Given the description of an element on the screen output the (x, y) to click on. 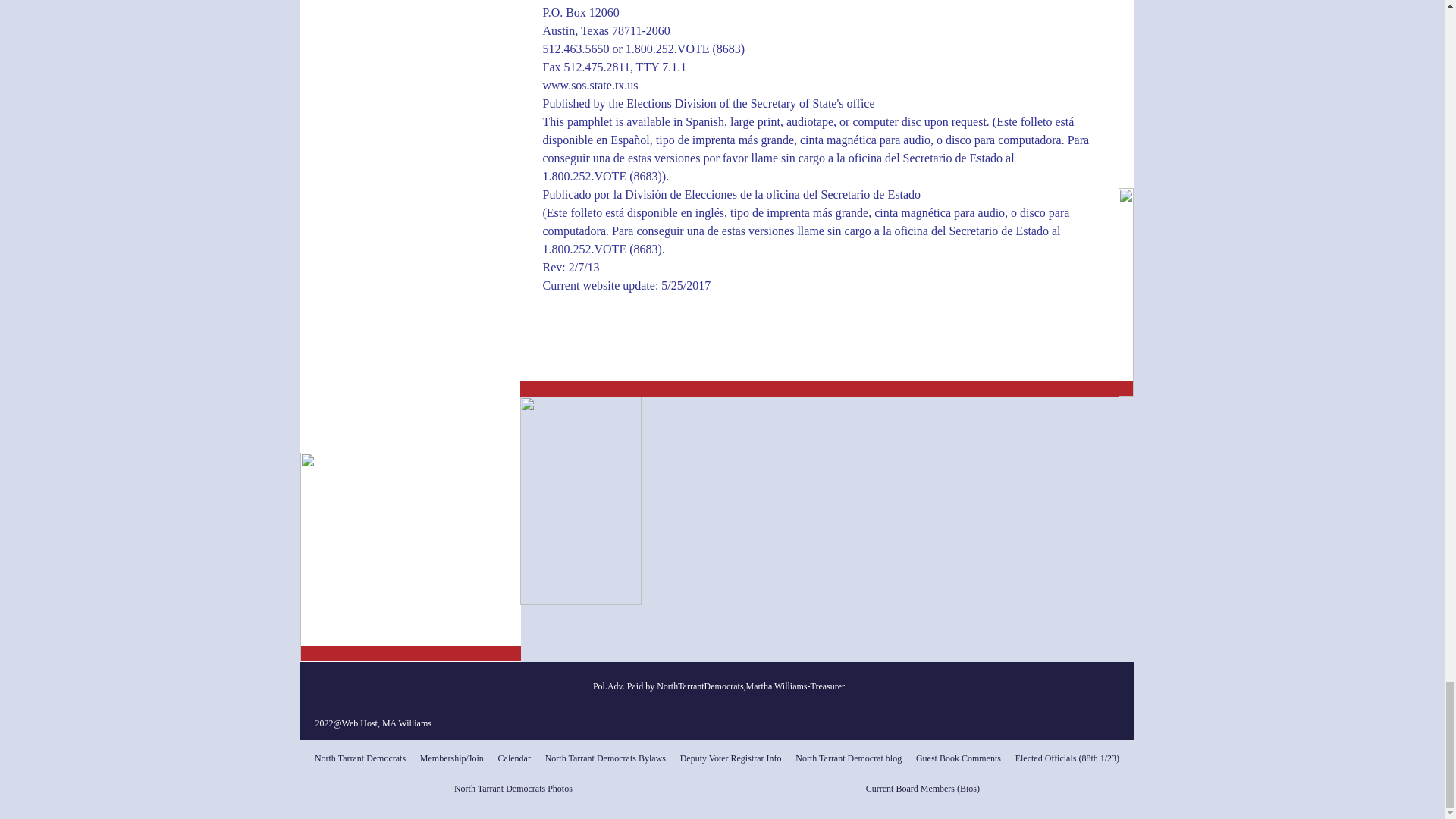
North Tarrant Democrat blog (848, 757)
North Tarrant Democrats Bylaws (604, 757)
Calendar (513, 757)
Deputy Voter Registrar Info (730, 757)
North Tarrant Democrats (360, 757)
North Tarrant Democrats Photos (513, 788)
Guest Book Comments (958, 757)
www.sos.state.tx.us (591, 86)
